Given the description of an element on the screen output the (x, y) to click on. 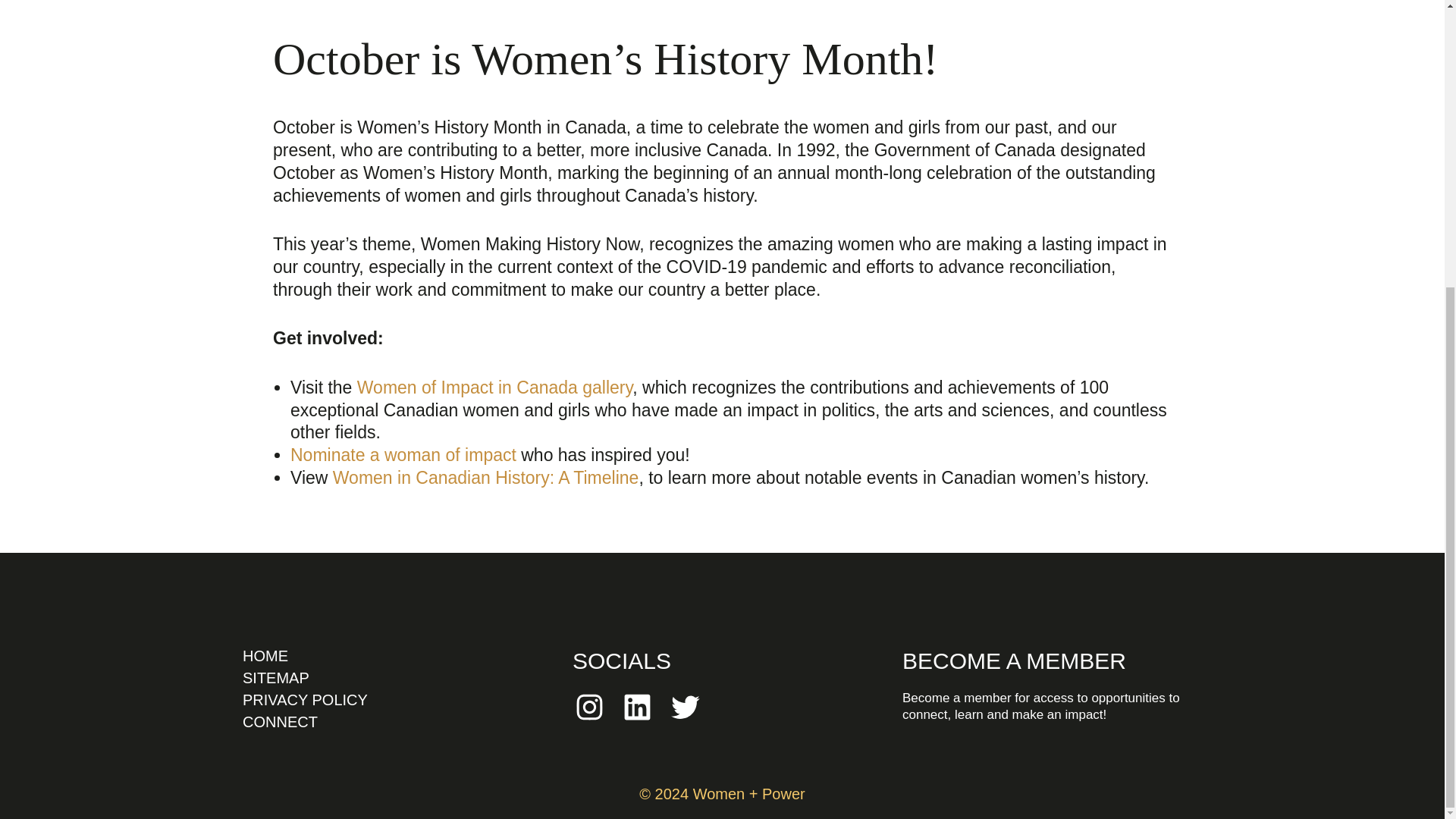
Women of Impact in Canada gallery (494, 387)
LinkedIn (636, 706)
Twitter (684, 706)
SITEMAP (275, 677)
HOME (265, 655)
Women in Canadian History: A Timeline (486, 477)
CONNECT (280, 721)
PRIVACY POLICY (305, 699)
Nominate a woman of impact (402, 455)
Instagram (589, 706)
